Given the description of an element on the screen output the (x, y) to click on. 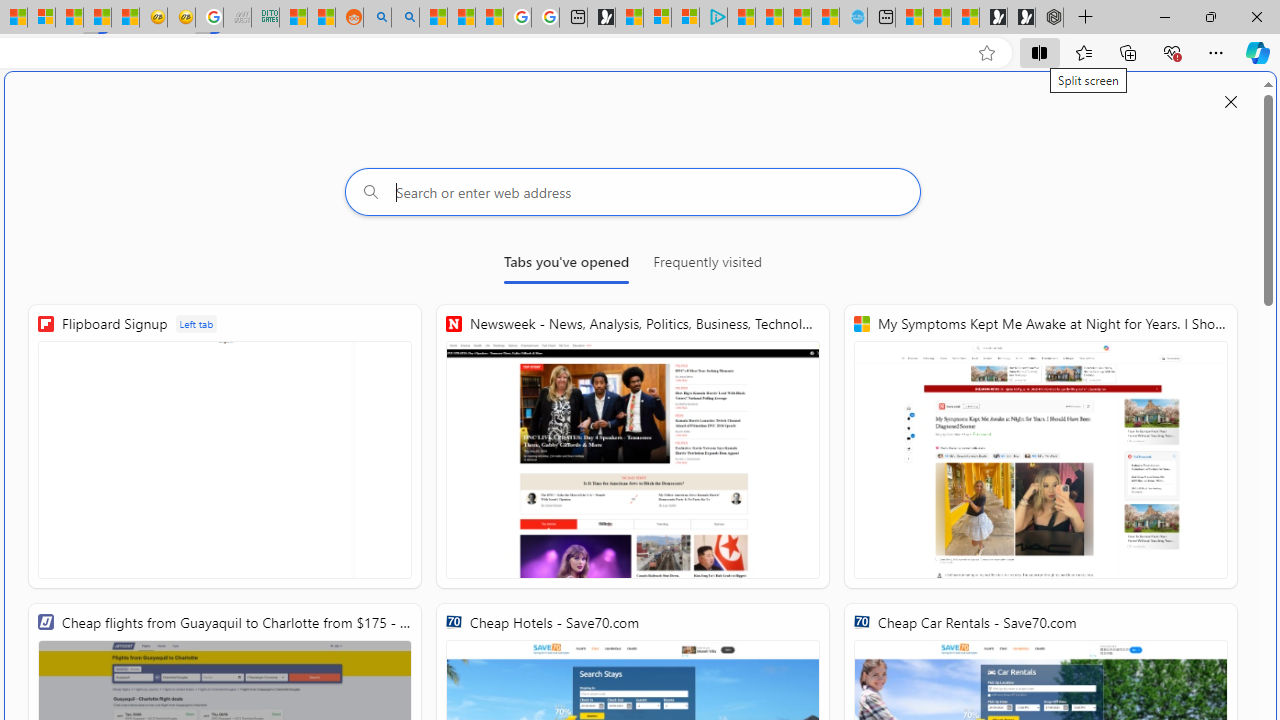
Close split screen (1231, 102)
